Given the description of an element on the screen output the (x, y) to click on. 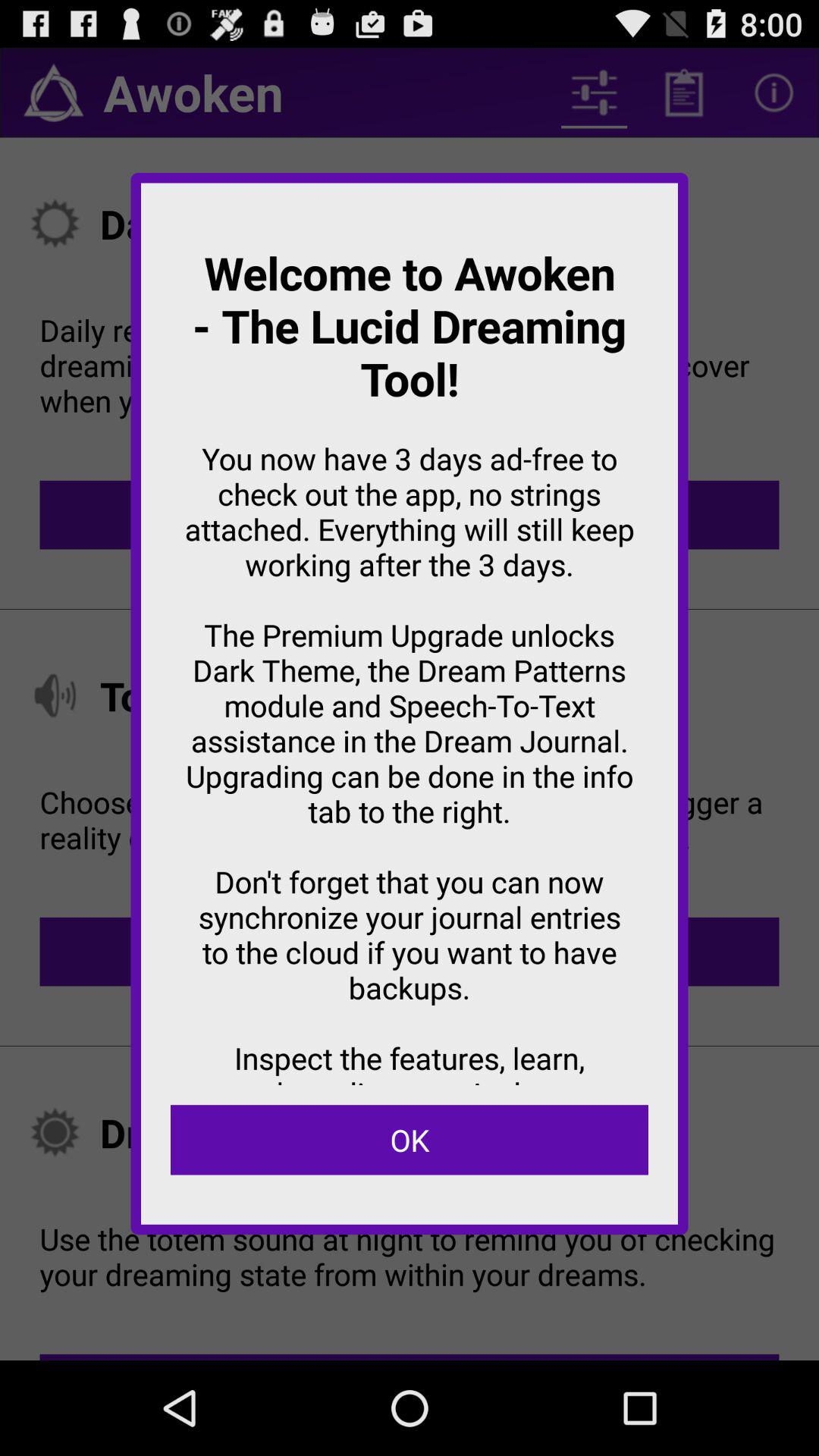
open ok (409, 1140)
